Given the description of an element on the screen output the (x, y) to click on. 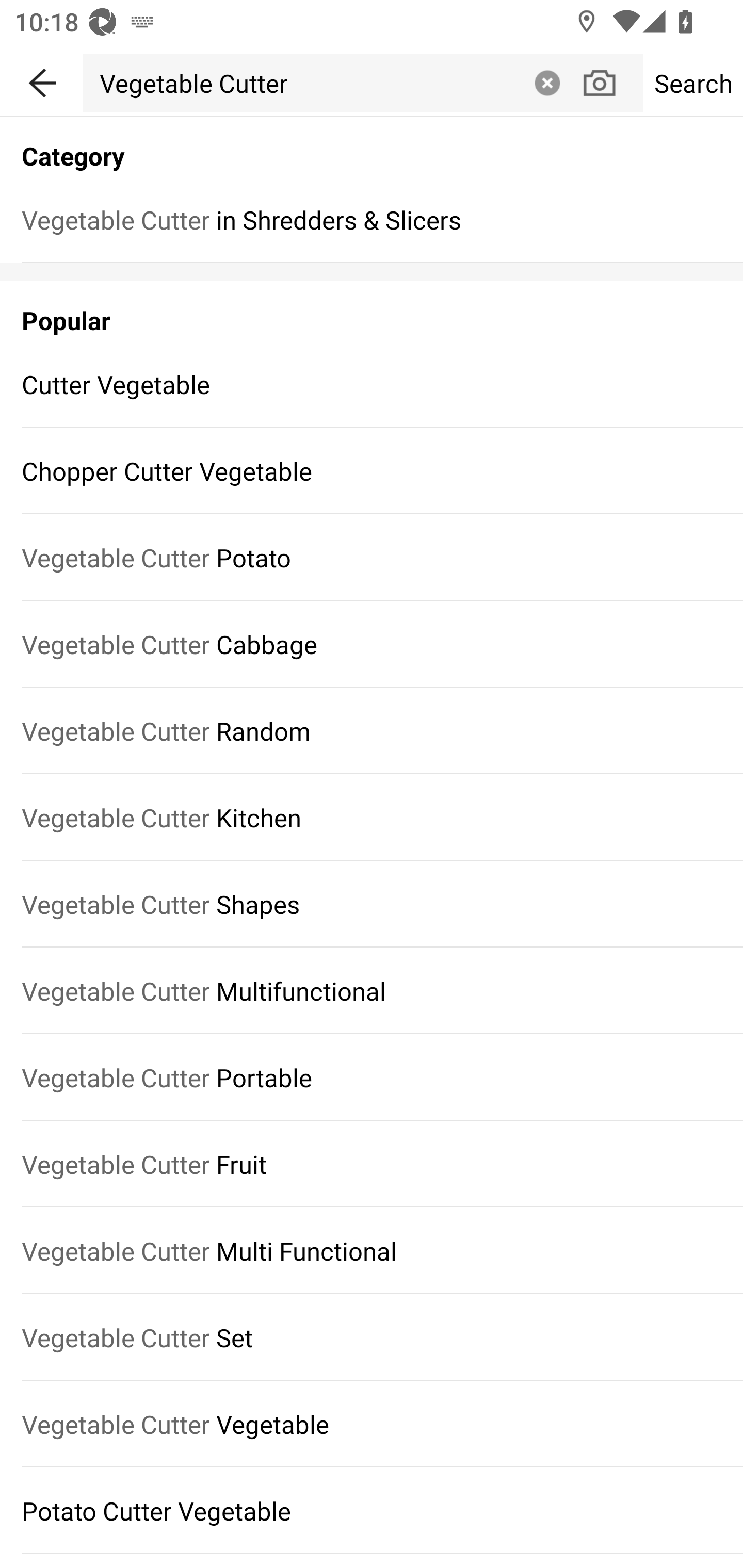
BACK (41, 79)
Vegetable Cutter (304, 82)
Clear (546, 82)
Search (692, 82)
Category (371, 145)
Vegetable Cutter in Shredders & Slicers (371, 219)
Vase (69, 310)
Cutter Vegetable (371, 384)
Chopper Cutter Vegetable (371, 471)
Vegetable Cutter Potato (371, 557)
Vegetable Cutter Cabbage (371, 643)
Vegetable Cutter Random (371, 730)
Vegetable Cutter Kitchen (371, 817)
Vegetable Cutter Shapes (371, 903)
Vegetable Cutter Multifunctional (371, 990)
Vegetable Cutter Portable (371, 1077)
Vegetable Cutter Fruit (371, 1164)
Vegetable Cutter Multi Functional (371, 1250)
Vegetable Cutter Set (371, 1337)
Vegetable Cutter Vegetable (371, 1424)
Potato Cutter Vegetable (371, 1510)
